Given the description of an element on the screen output the (x, y) to click on. 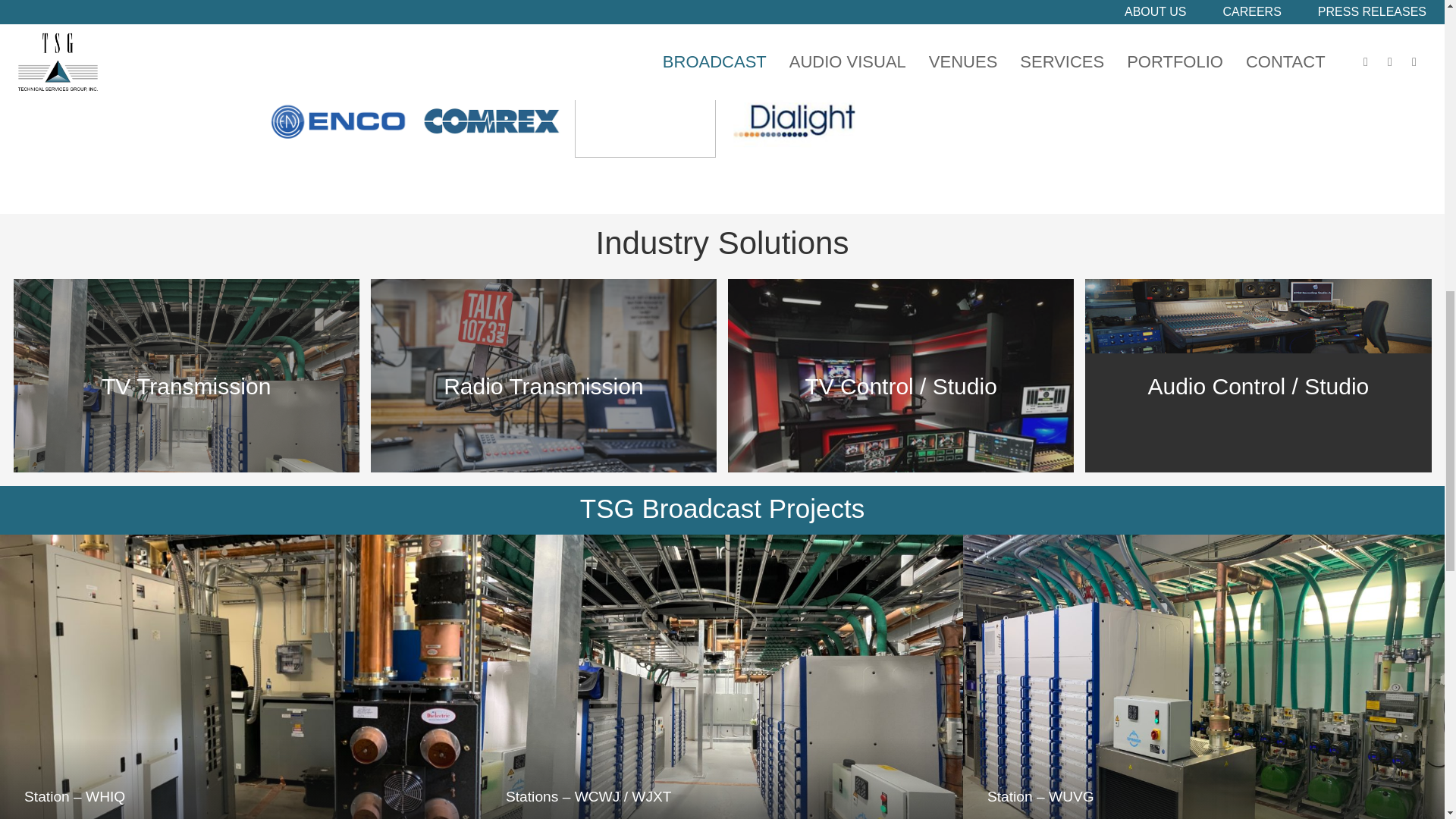
Back to top (1413, 30)
